Given the description of an element on the screen output the (x, y) to click on. 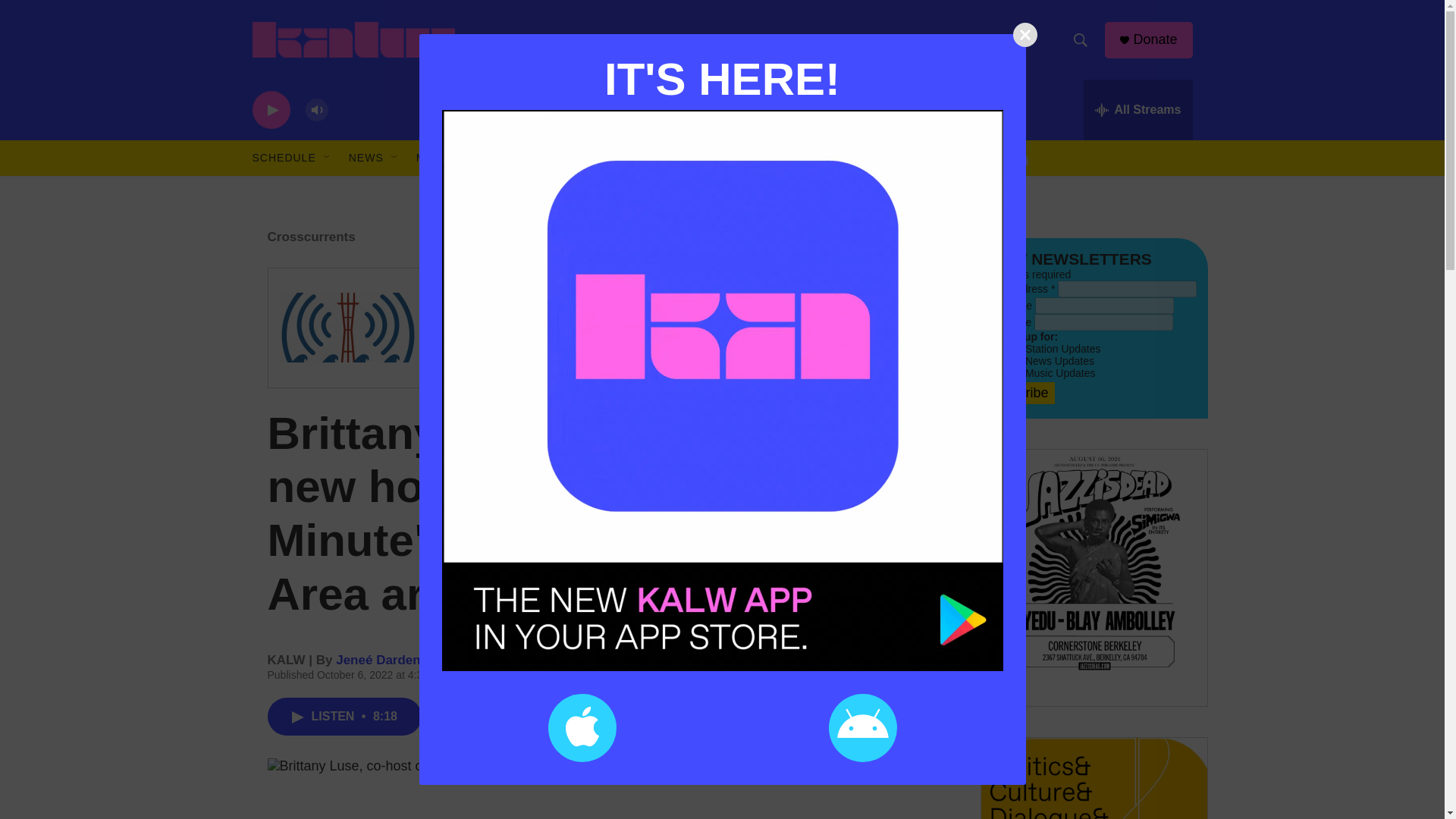
Close (1024, 34)
4 (984, 371)
Subscribe (1017, 393)
1 (984, 359)
2 (984, 347)
